Given the description of an element on the screen output the (x, y) to click on. 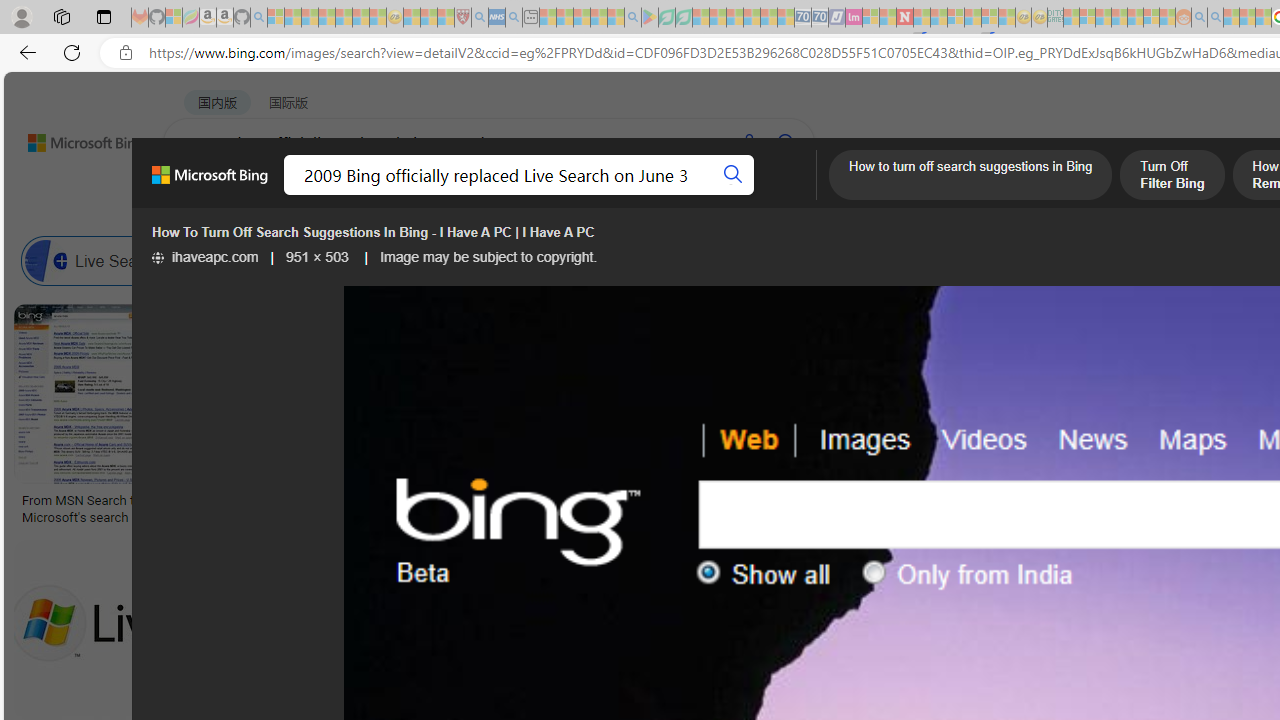
Bing Voice Search (275, 260)
DICT (717, 195)
WEB (201, 195)
Bing Word Search (648, 260)
Bing Ai Search Engine Powered (830, 260)
Class: b_pri_nav_svg (423, 196)
ihaveapc.com (204, 257)
Bing Ai Search Engine Powered (943, 260)
